Given the description of an element on the screen output the (x, y) to click on. 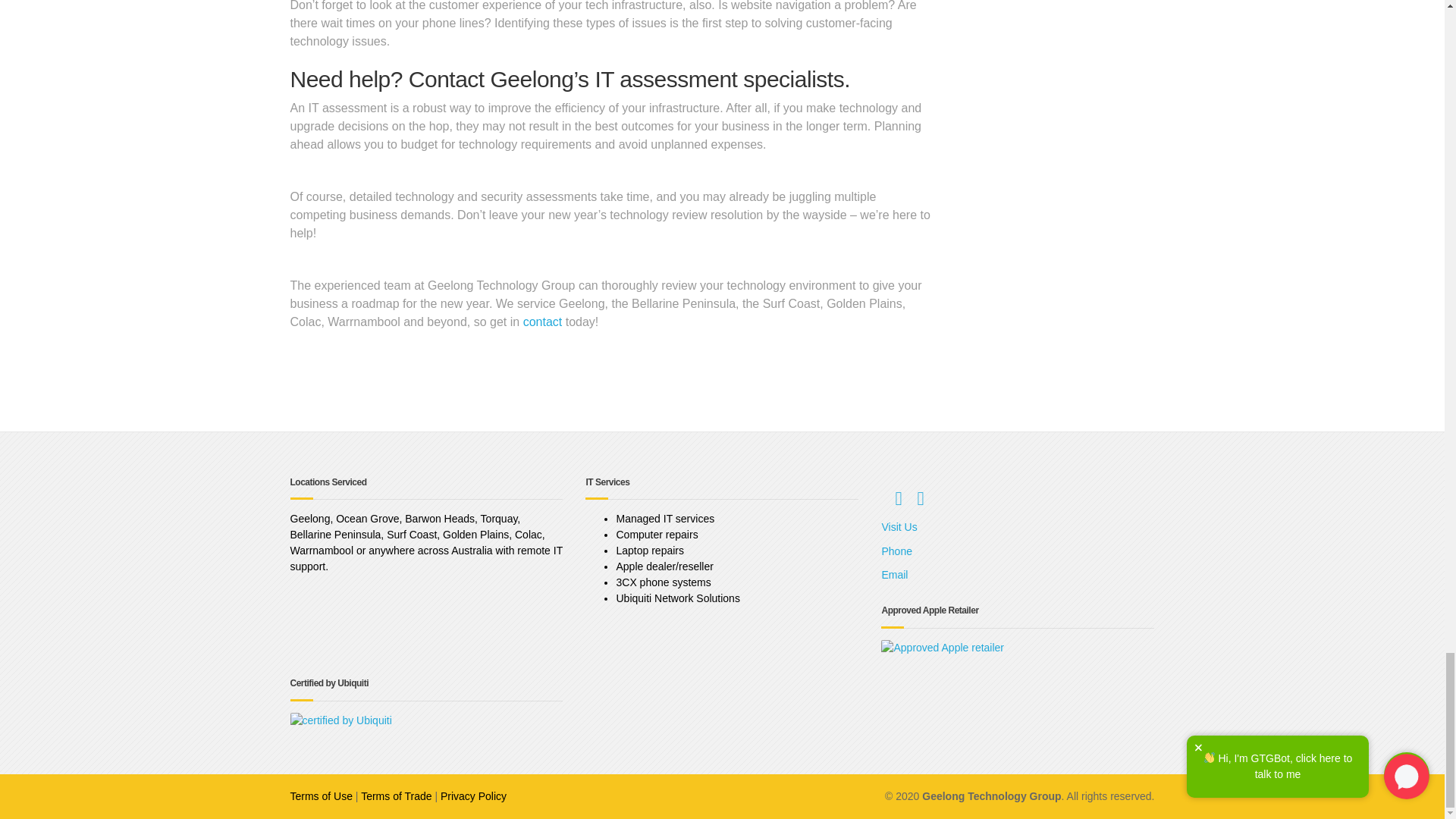
Untitled design (942, 647)
